Given the description of an element on the screen output the (x, y) to click on. 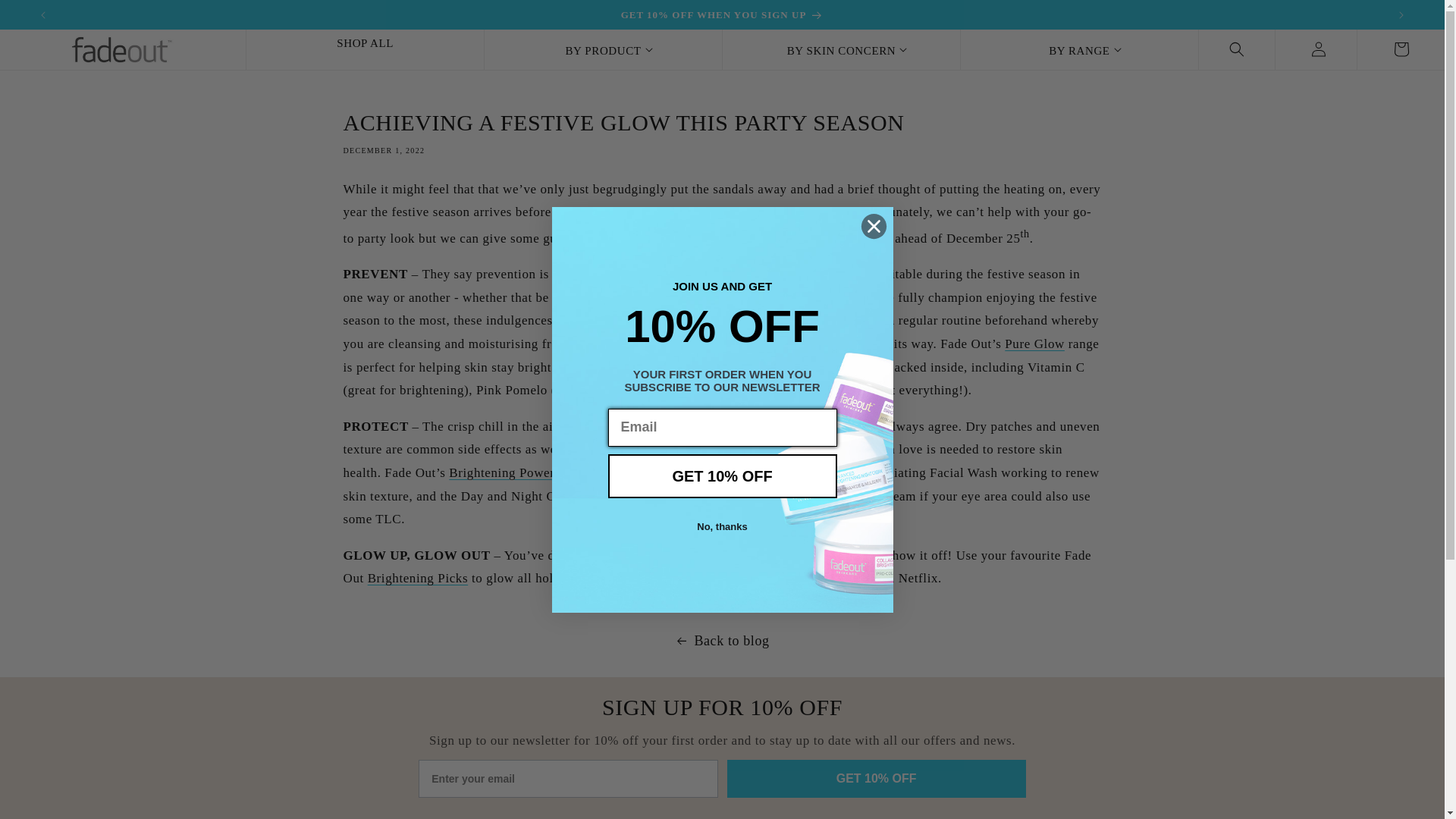
Shop All (418, 577)
Pure Glow Collection (1034, 343)
Close dialog 2 (873, 225)
on (423, 810)
SHOP ALL (364, 48)
Advanced Brightening Power Trio (514, 472)
Skip to content (45, 16)
